Given the description of an element on the screen output the (x, y) to click on. 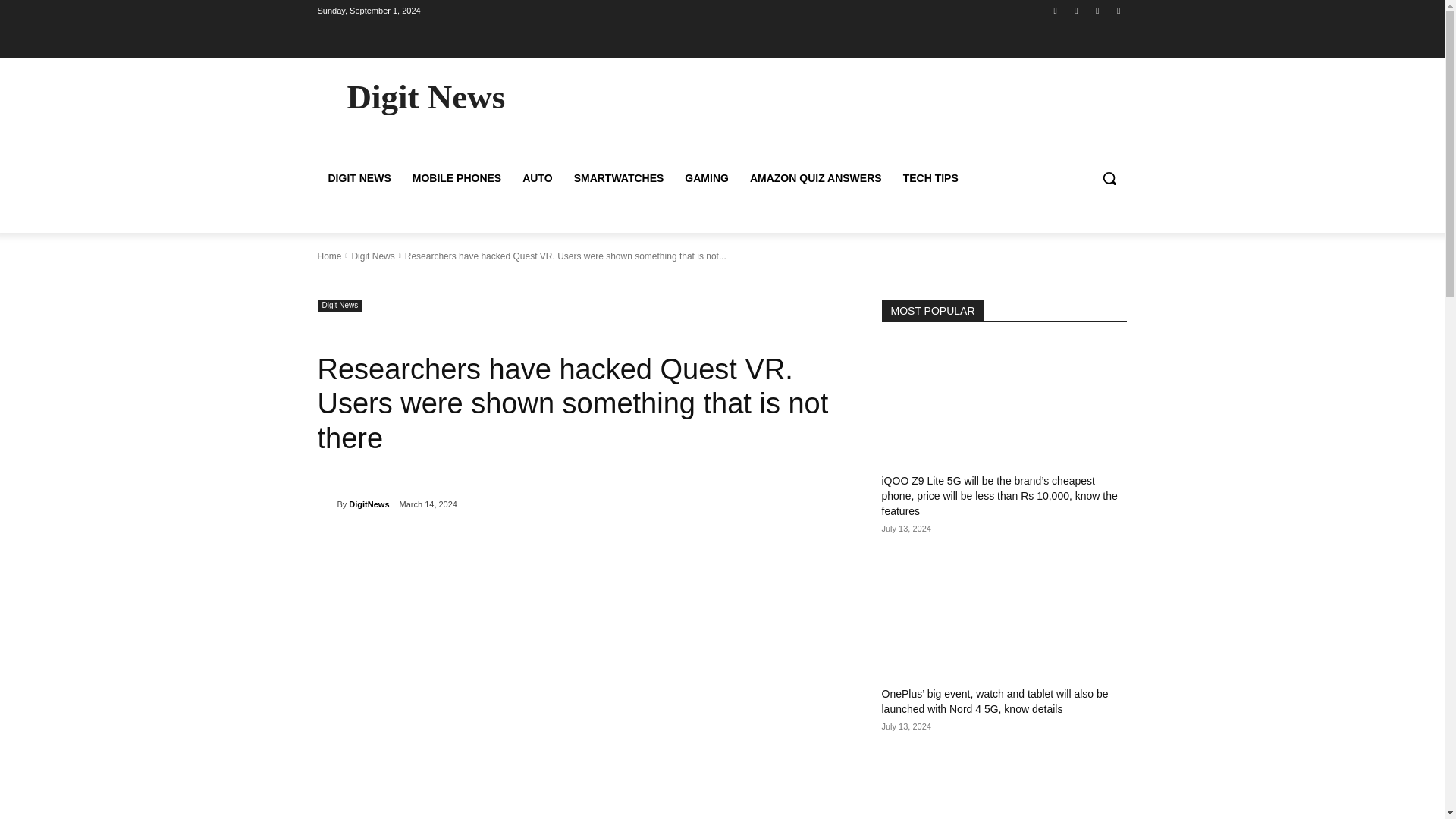
Home (328, 255)
TECH TIPS (930, 176)
DigitNews (368, 504)
MOBILE PHONES (456, 176)
Digit News (372, 255)
Twitter (1097, 9)
SMARTWATCHES (619, 176)
Digit News (339, 305)
AMAZON QUIZ ANSWERS (815, 176)
Digit News (425, 97)
